Given the description of an element on the screen output the (x, y) to click on. 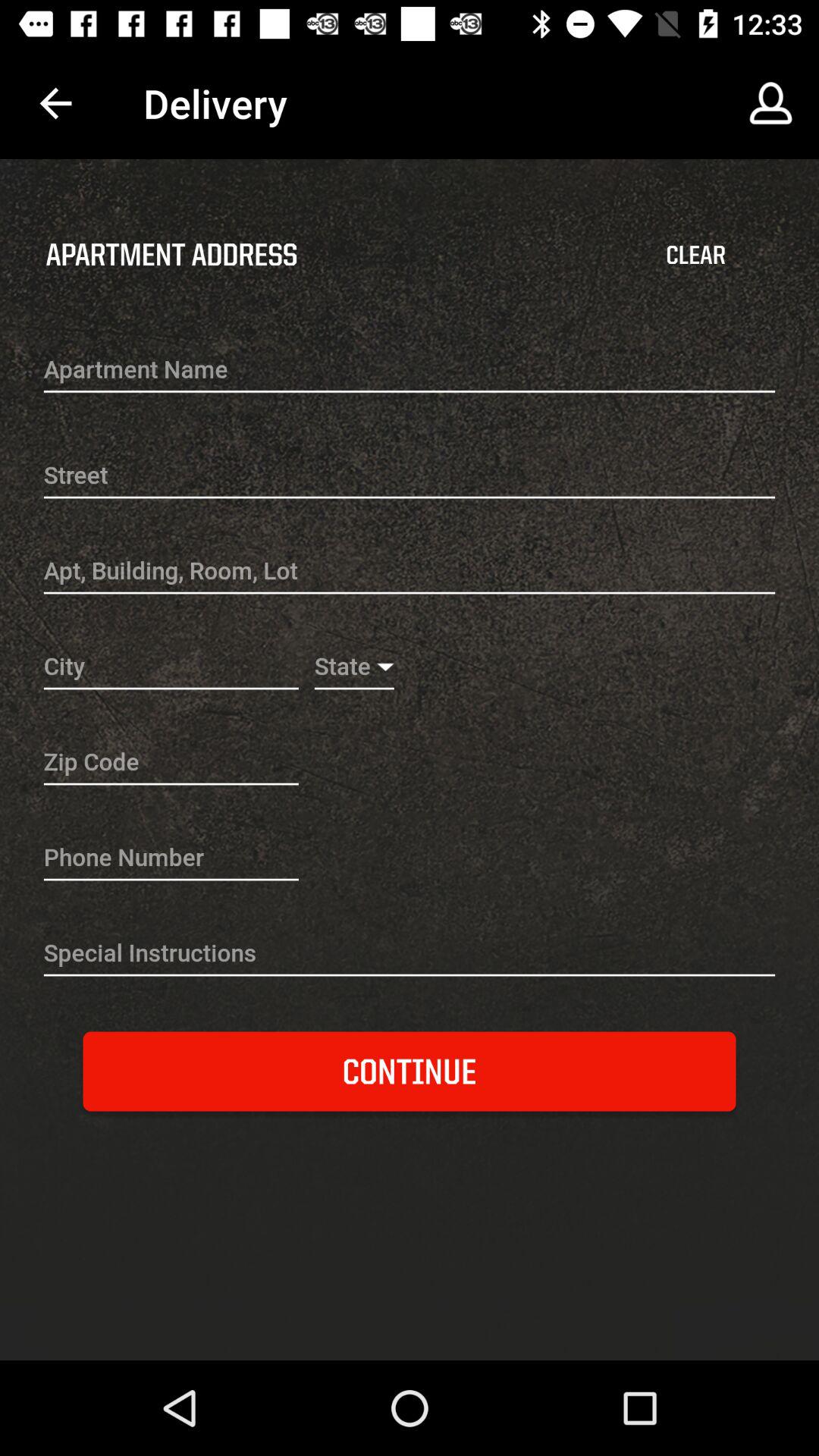
select the icon above the clear item (771, 103)
